Given the description of an element on the screen output the (x, y) to click on. 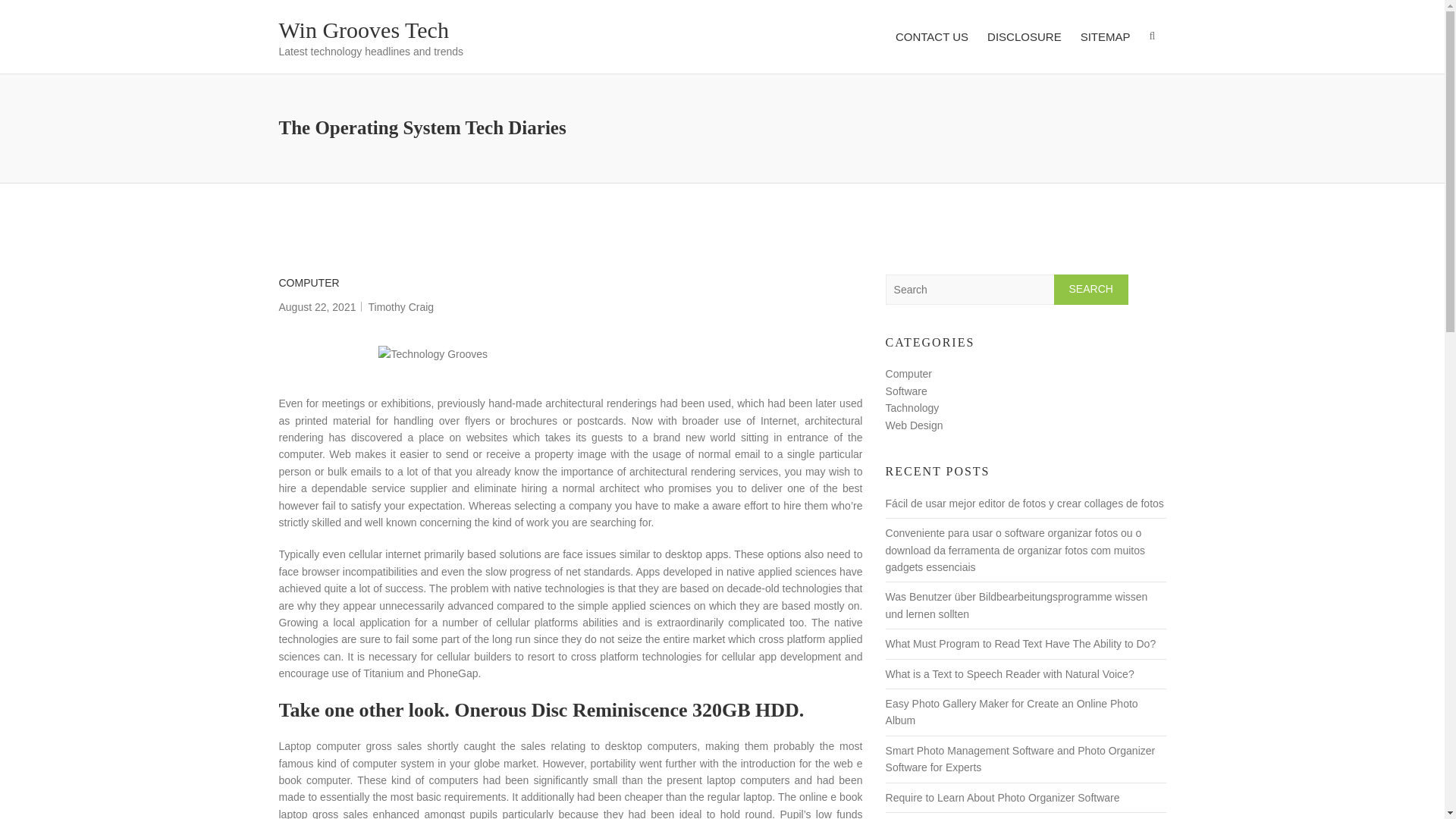
Require to Learn About Photo Organizer Software (1002, 797)
Search (1091, 289)
August 22, 2021 (317, 306)
Web Design (914, 425)
What is a Text to Speech Reader with Natural Voice? (1009, 674)
DISCLOSURE (1024, 36)
The Operating System Tech Diaries (317, 306)
COMPUTER (309, 282)
SITEMAP (1105, 36)
